Given the description of an element on the screen output the (x, y) to click on. 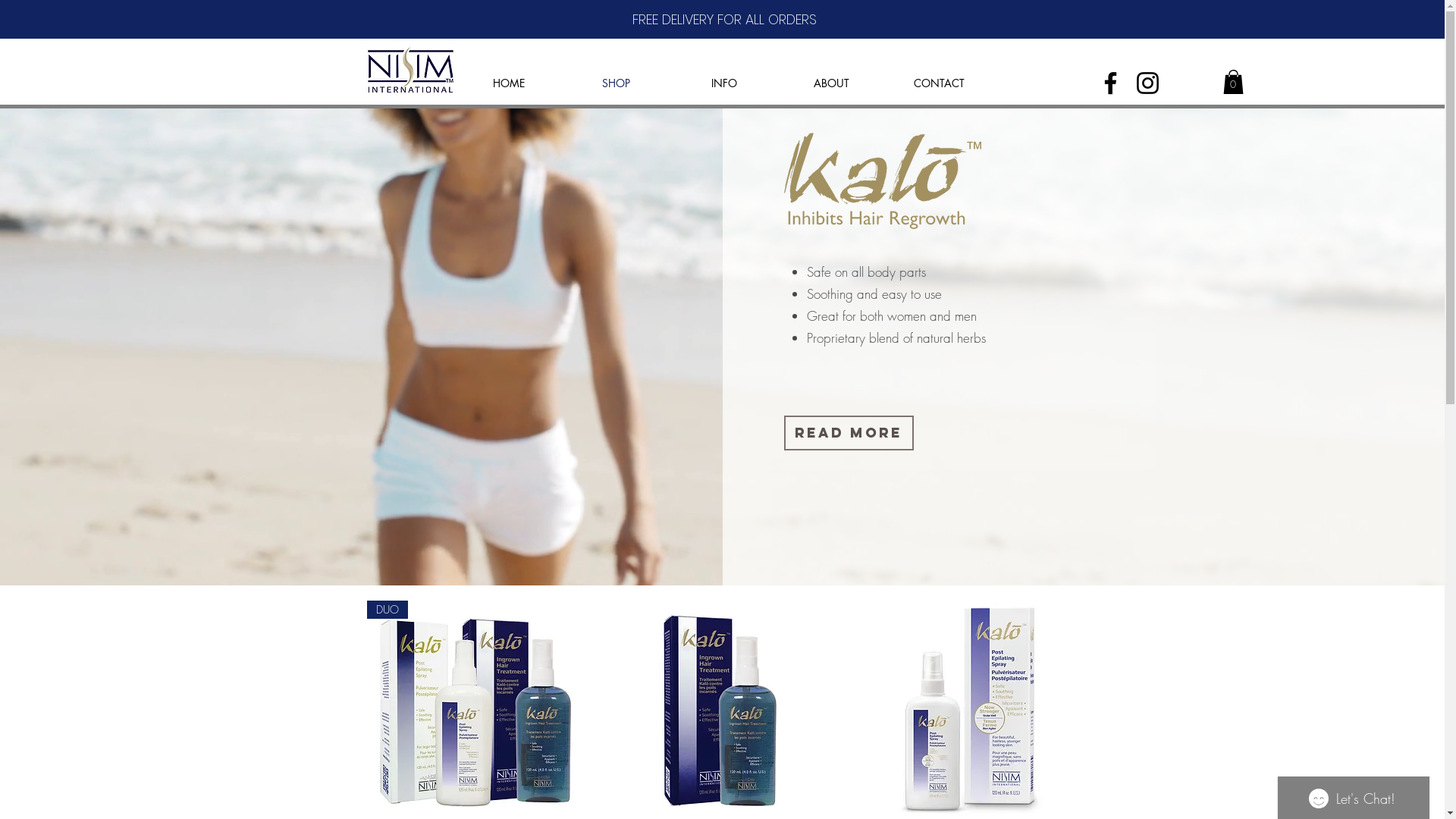
SHOP Element type: text (616, 82)
0 Element type: text (1233, 81)
Nisim Australia Element type: hover (409, 69)
HOME Element type: text (508, 82)
ABOUT Element type: text (831, 82)
DUO Element type: text (475, 708)
INFO Element type: text (724, 82)
READ MORE Element type: text (848, 432)
CONTACT Element type: text (939, 82)
